Given the description of an element on the screen output the (x, y) to click on. 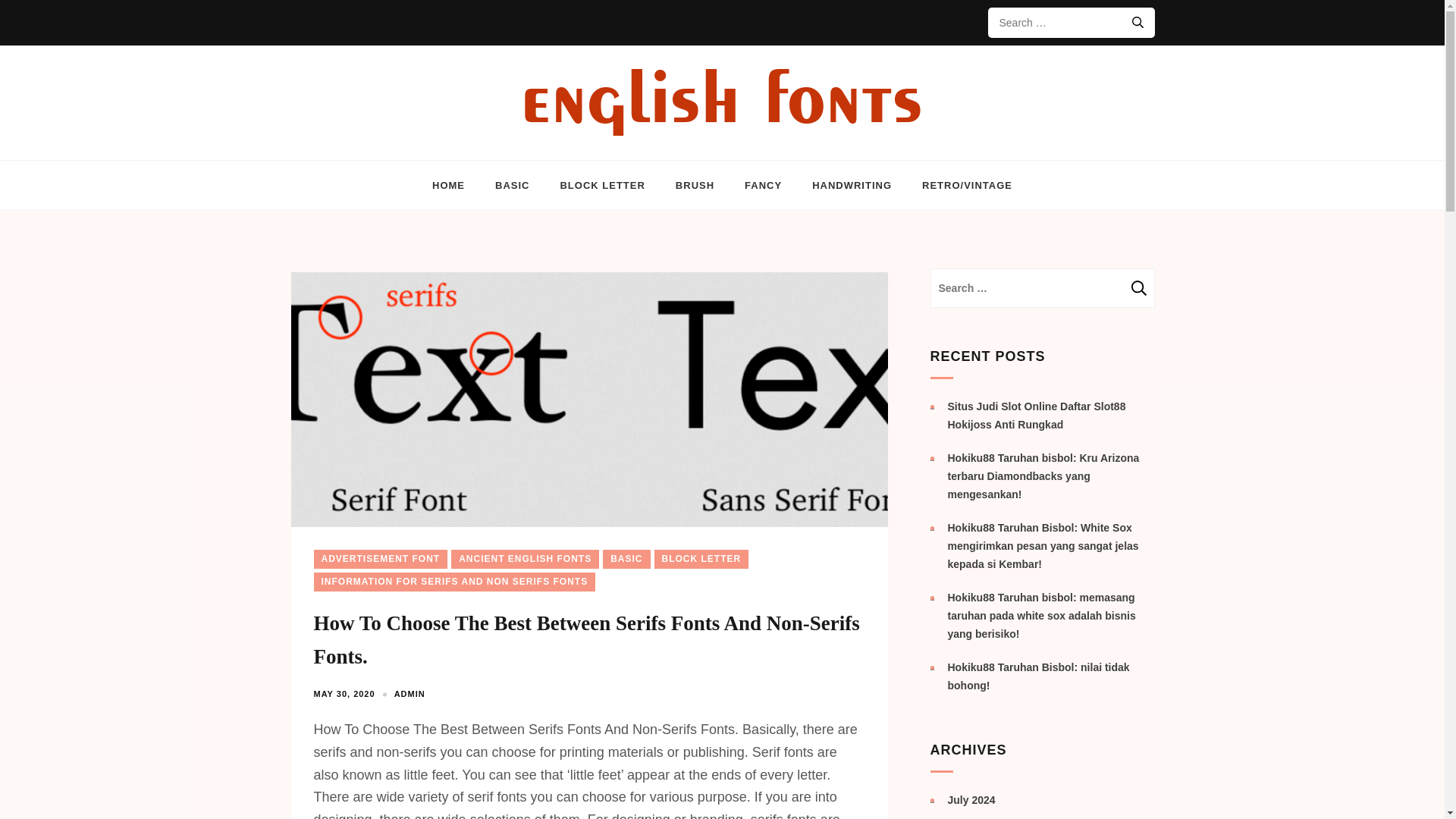
ADVERTISEMENT FONT (381, 558)
ADMIN (409, 694)
BLOCK LETTER (701, 558)
INFORMATION FOR SERIFS AND NON SERIFS FONTS (454, 581)
MAY 30, 2020 (344, 694)
English Fonts (132, 164)
Situs Judi Slot Online Daftar Slot88 Hokijoss Anti Rungkad (1036, 415)
Search (1139, 287)
Search (1139, 287)
Search (1139, 287)
Hokiku88 Taruhan Bisbol: nilai tidak bohong! (1038, 675)
ANCIENT ENGLISH FONTS (524, 558)
BASIC (625, 558)
